Given the description of an element on the screen output the (x, y) to click on. 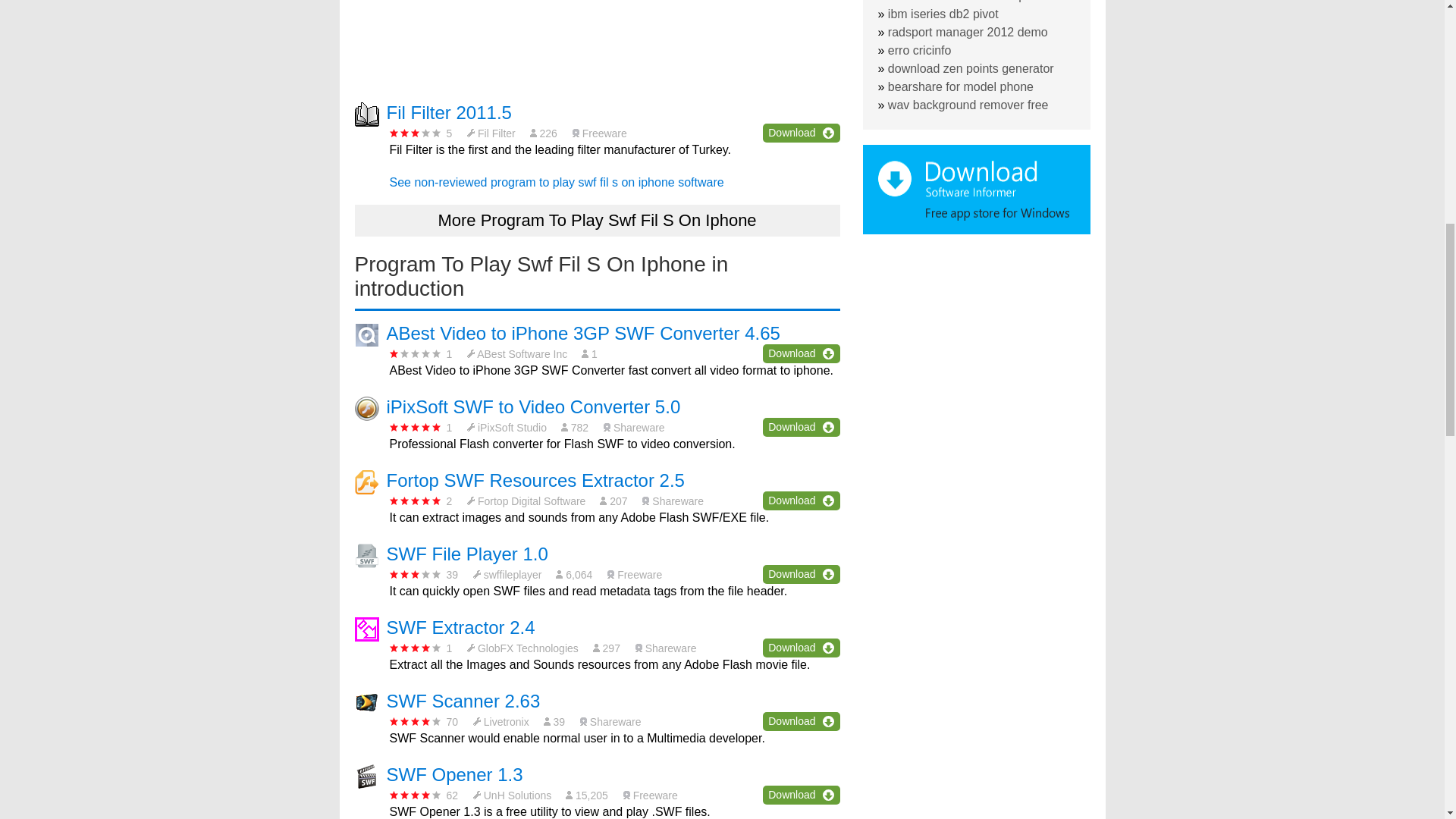
3.2 (415, 132)
SWF Opener 1.3 (454, 774)
ABest Video to iPhone 3GP SWF Converter 4.65 (583, 332)
Download (801, 500)
SWF File Player 1.0 (467, 553)
SWF Scanner 2.63 (463, 701)
iPixSoft SWF to Video Converter 5.0 (534, 406)
Download (801, 353)
ABest Video to iPhone 3GP SWF Converter 4.65 (583, 332)
SWF Opener 1.3 (454, 774)
Download (801, 721)
Advertisement (597, 41)
4 (415, 647)
Download (801, 426)
